Given the description of an element on the screen output the (x, y) to click on. 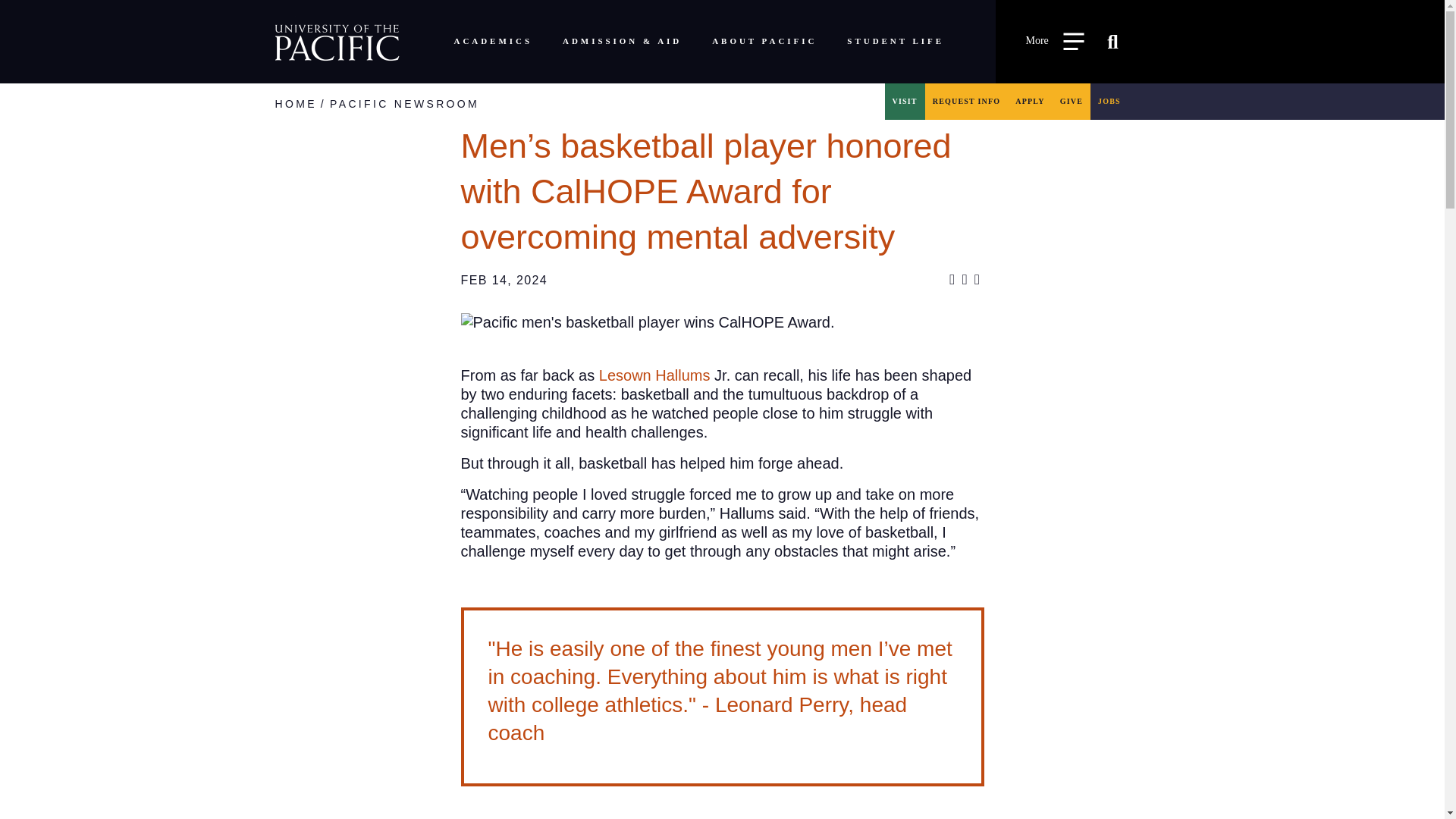
ABOUT PACIFIC (763, 40)
STUDENT LIFE (895, 40)
ACADEMICS (491, 40)
